Given the description of an element on the screen output the (x, y) to click on. 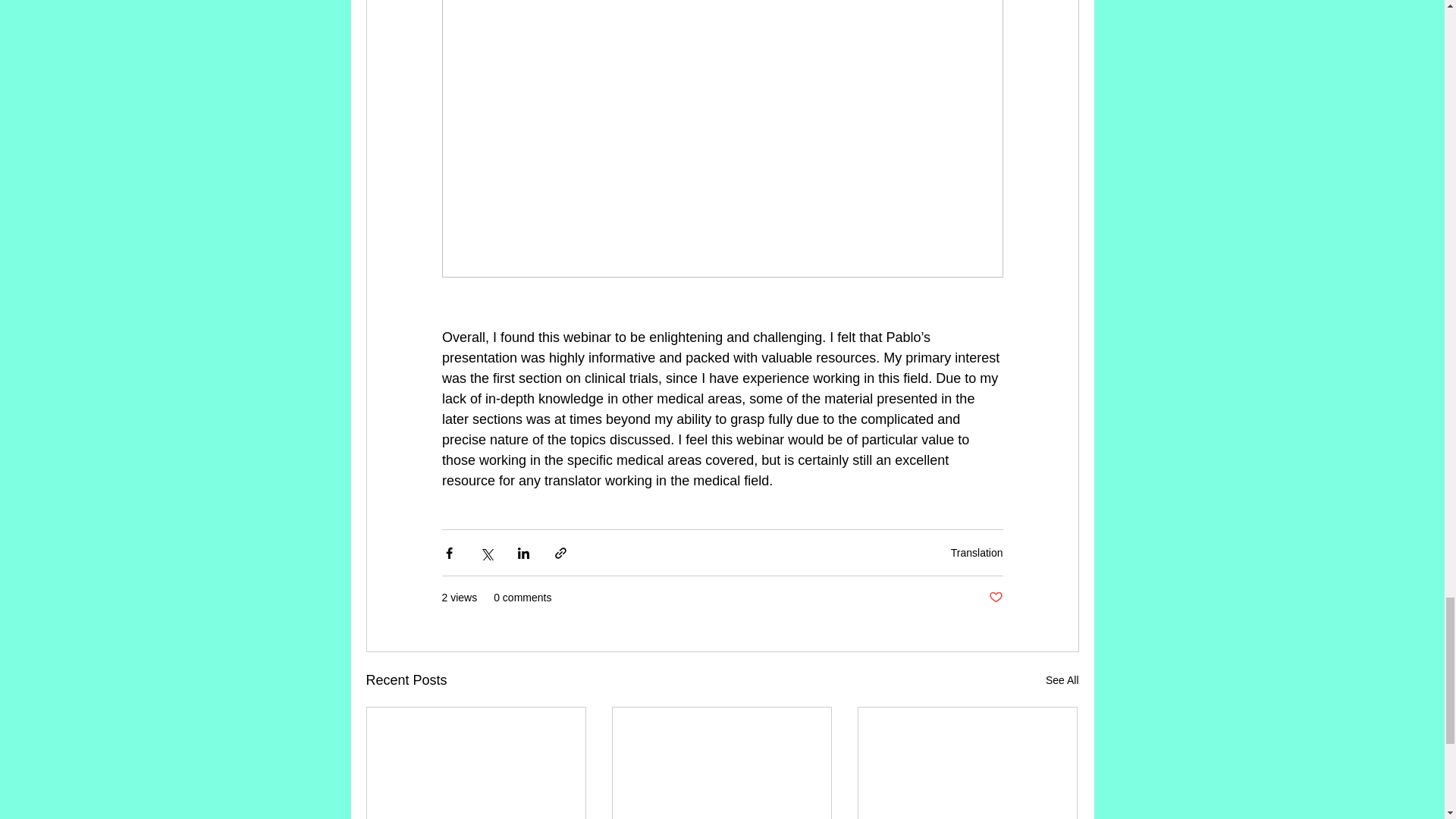
Translation (976, 552)
Post not marked as liked (995, 597)
See All (1061, 680)
